Given the description of an element on the screen output the (x, y) to click on. 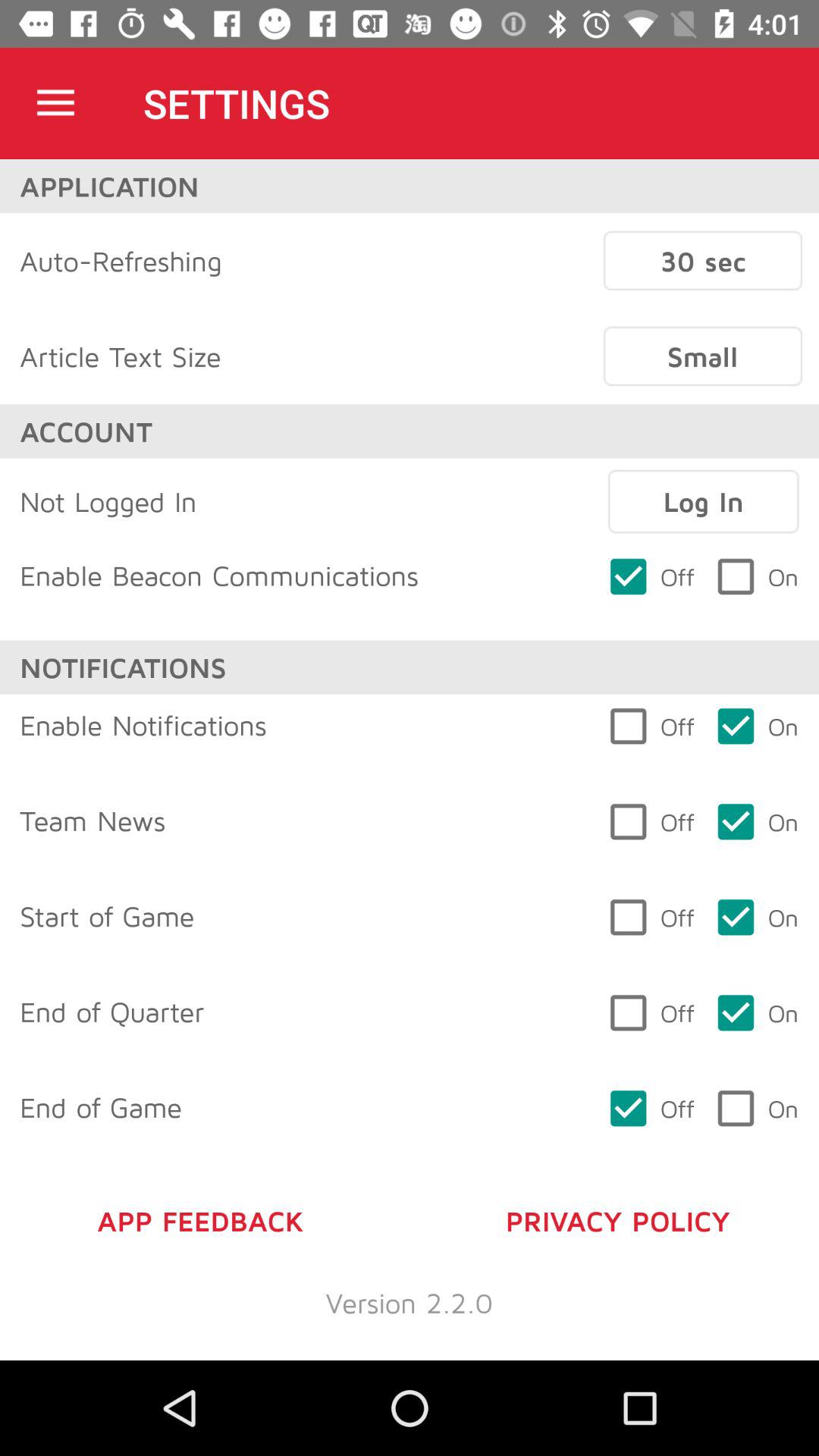
tap version 2 2 icon (409, 1302)
